Given the description of an element on the screen output the (x, y) to click on. 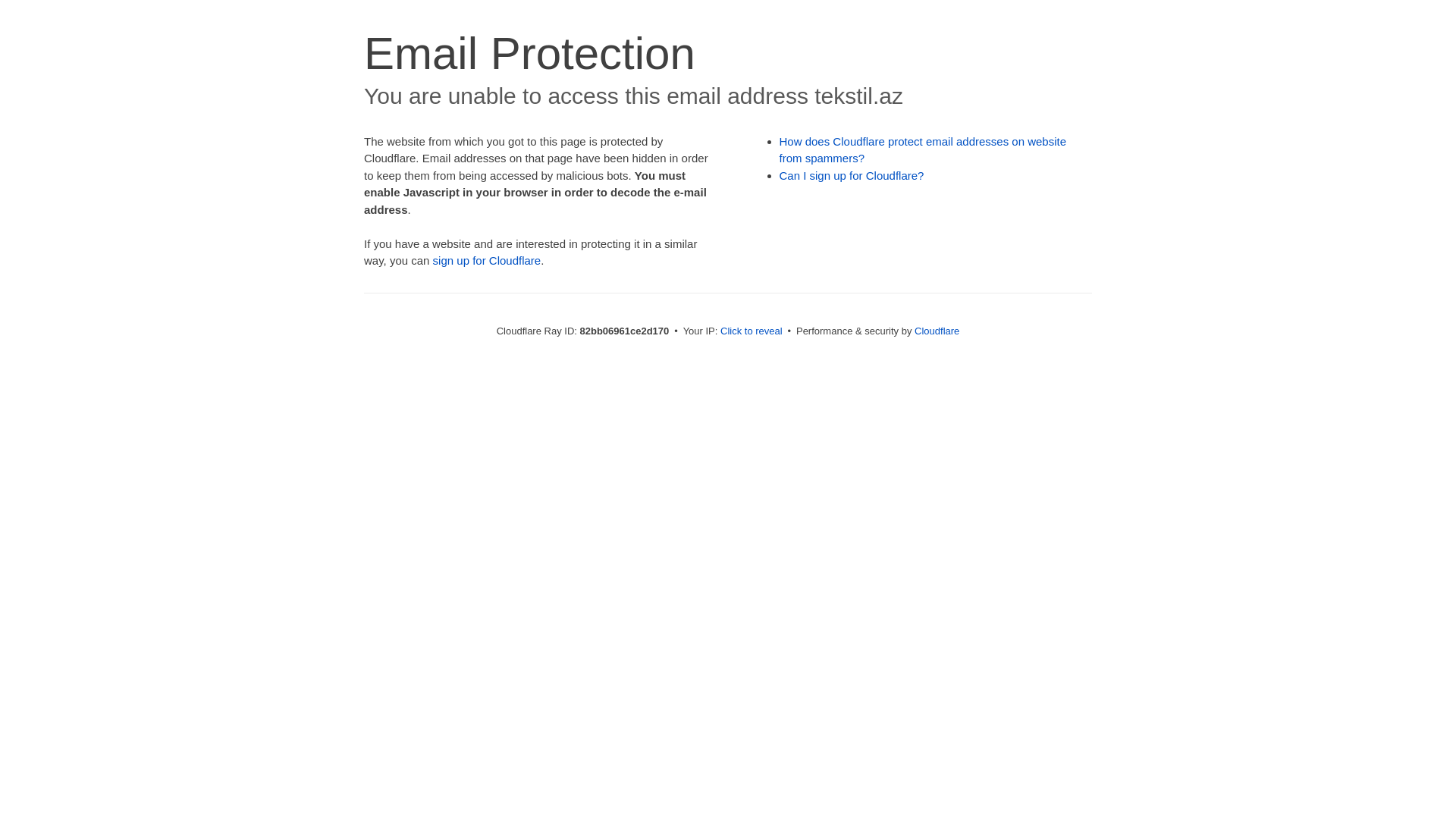
sign up for Cloudflare Element type: text (487, 260)
Can I sign up for Cloudflare? Element type: text (851, 175)
Cloudflare Element type: text (936, 330)
Click to reveal Element type: text (751, 330)
